Given the description of an element on the screen output the (x, y) to click on. 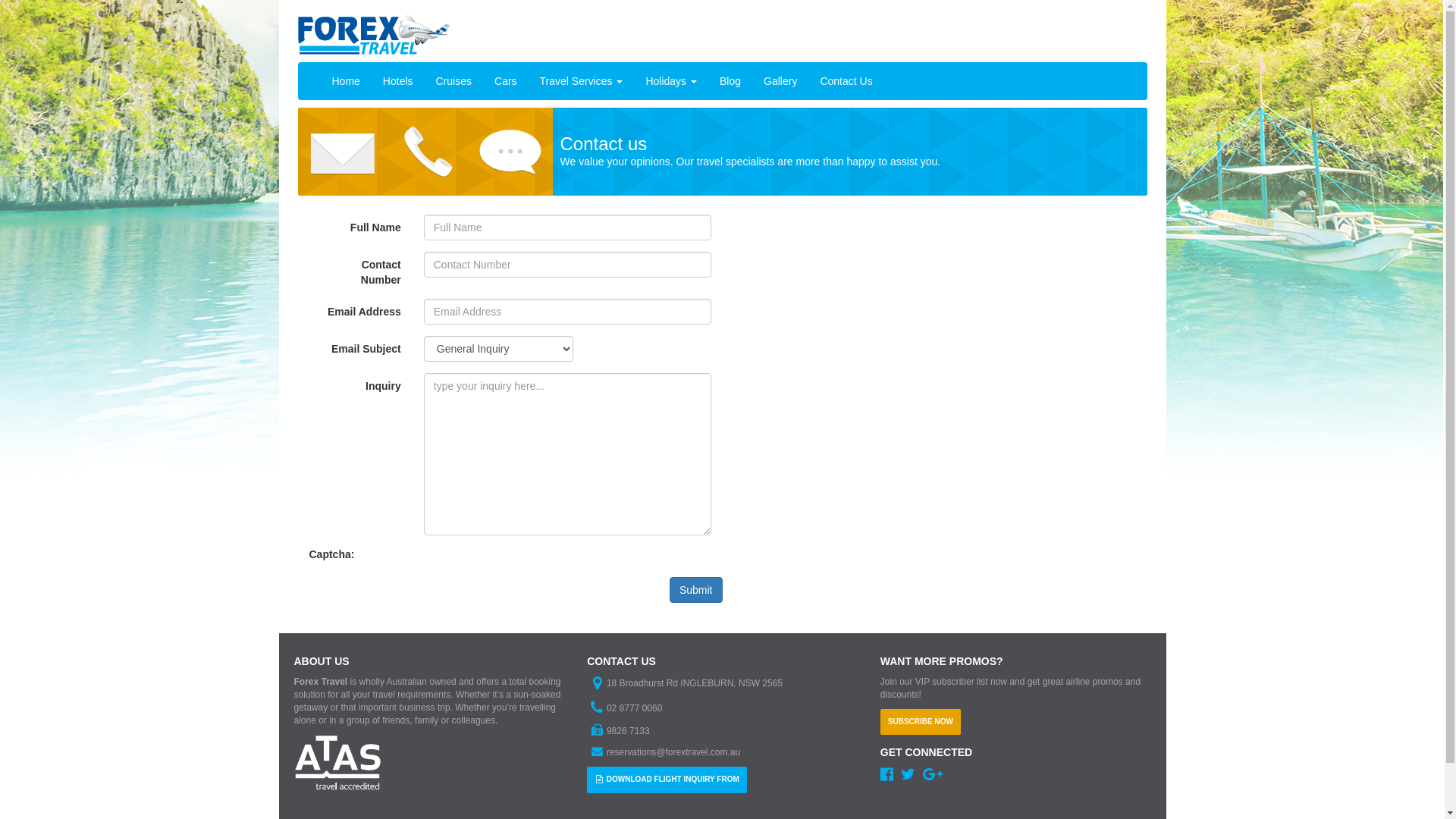
Contact Us Element type: text (845, 81)
Blog Element type: text (730, 81)
Submit Element type: text (695, 589)
Cruises Element type: text (453, 81)
Home Element type: text (345, 81)
Cars Element type: text (505, 81)
Gallery Element type: text (780, 81)
Travel Services Element type: text (581, 81)
Holidays Element type: text (670, 81)
Hotels Element type: text (397, 81)
